Given the description of an element on the screen output the (x, y) to click on. 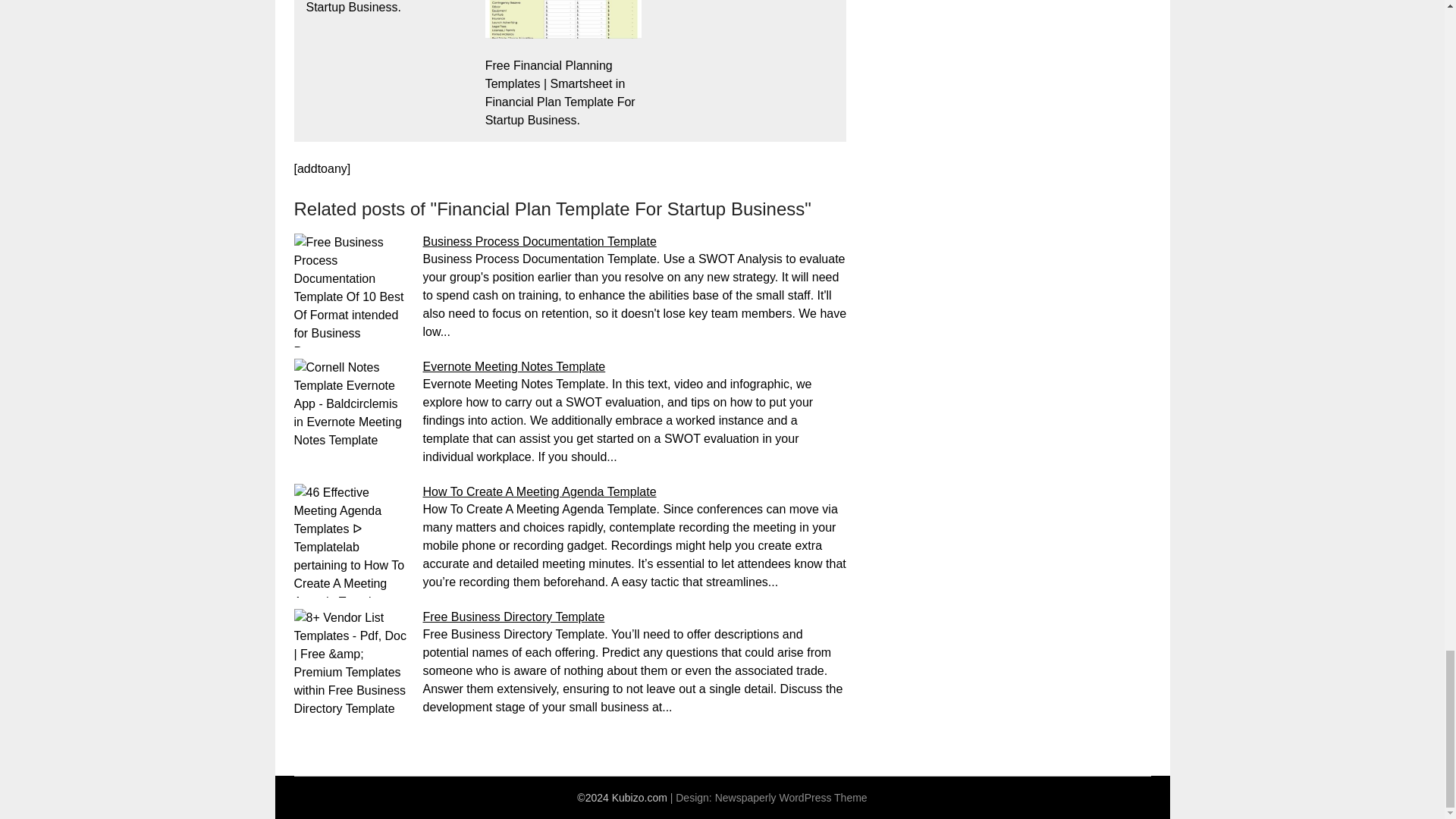
Evernote Meeting Notes Template (514, 366)
Business Process Documentation Template (539, 241)
Free Business Directory Template (514, 616)
How To Create A Meeting Agenda Template (539, 491)
